Given the description of an element on the screen output the (x, y) to click on. 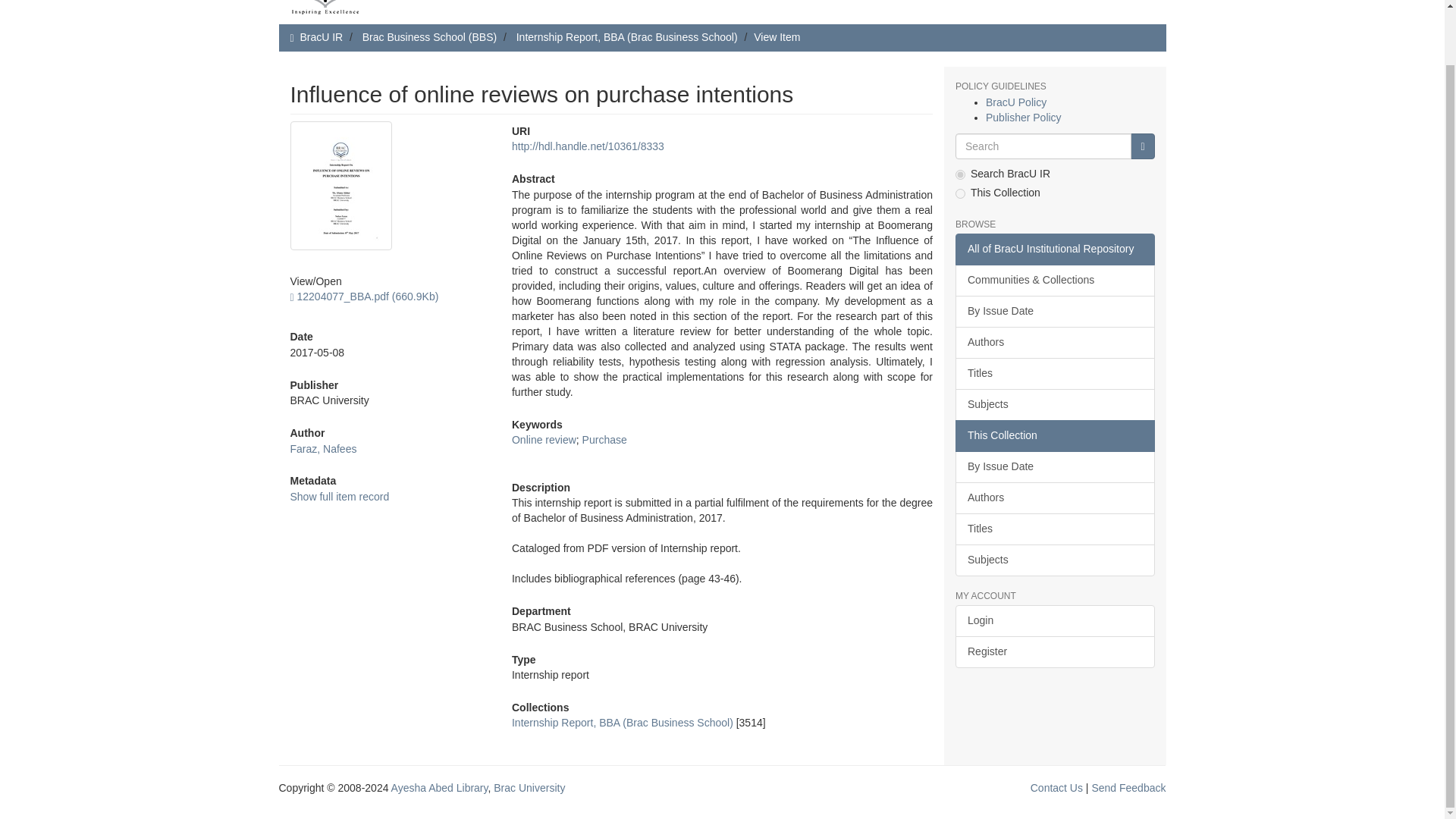
This Collection (1054, 436)
Publisher Policy (1023, 117)
Purchase (604, 439)
Authors (1054, 498)
Online review (544, 439)
Authors (1054, 342)
Subjects (1054, 404)
By Issue Date (1054, 467)
Go (1142, 145)
By Issue Date (1054, 311)
Faraz, Nafees (322, 449)
Titles (1054, 529)
Titles (1054, 373)
Show full item record (338, 496)
BracU Policy (1015, 102)
